Given the description of an element on the screen output the (x, y) to click on. 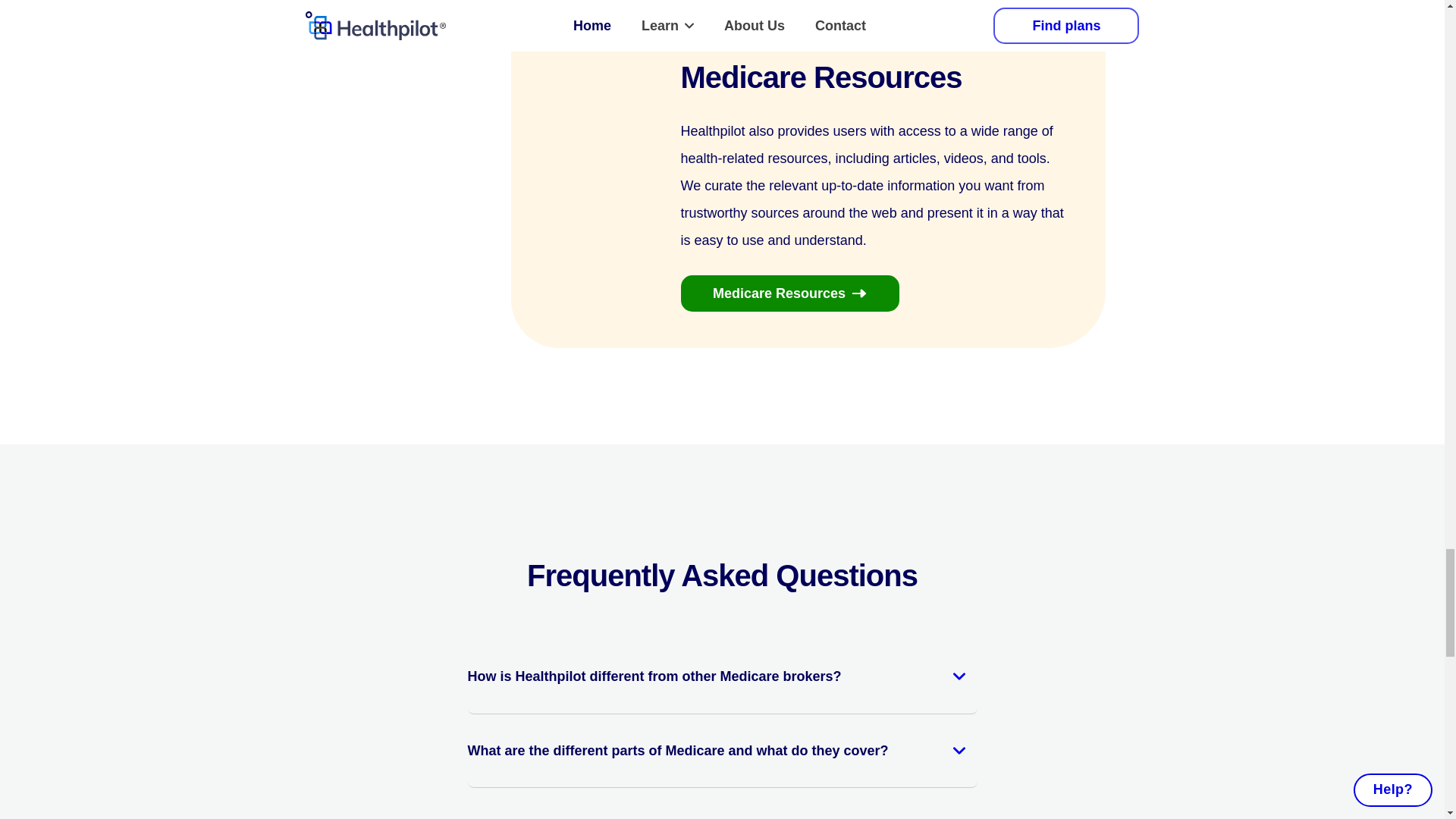
Medicare Resources (790, 293)
How is Healthpilot different from other Medicare brokers? (721, 678)
When am I eligible to enroll into a Medicare plan? (721, 805)
